Given the description of an element on the screen output the (x, y) to click on. 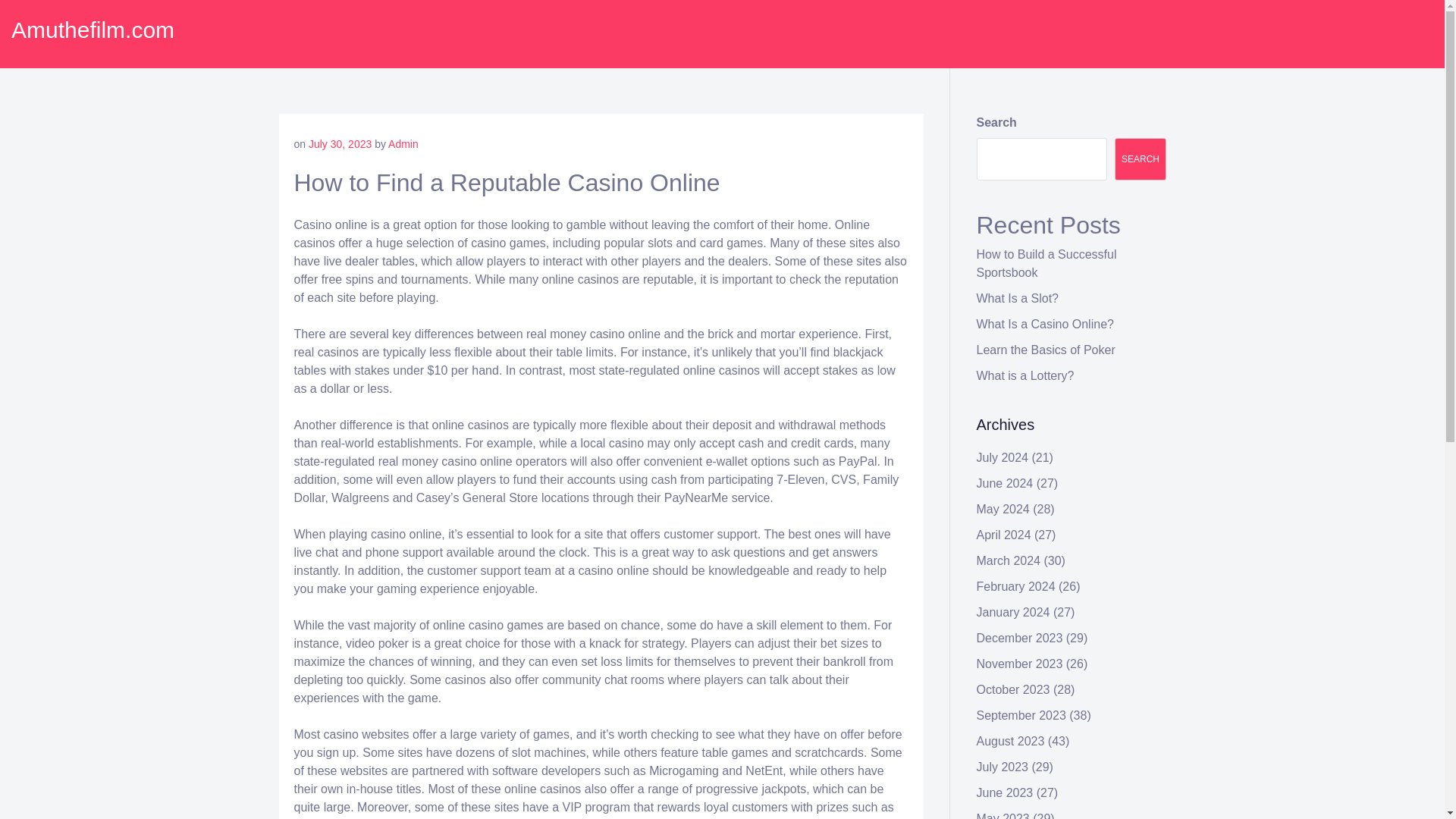
July 30, 2023 (339, 143)
What is a Lottery? (1025, 375)
July 2024 (1002, 457)
October 2023 (1012, 689)
March 2024 (1008, 560)
September 2023 (1020, 715)
January 2024 (1012, 612)
April 2024 (1003, 534)
August 2023 (1010, 740)
May 2024 (1002, 508)
